Given the description of an element on the screen output the (x, y) to click on. 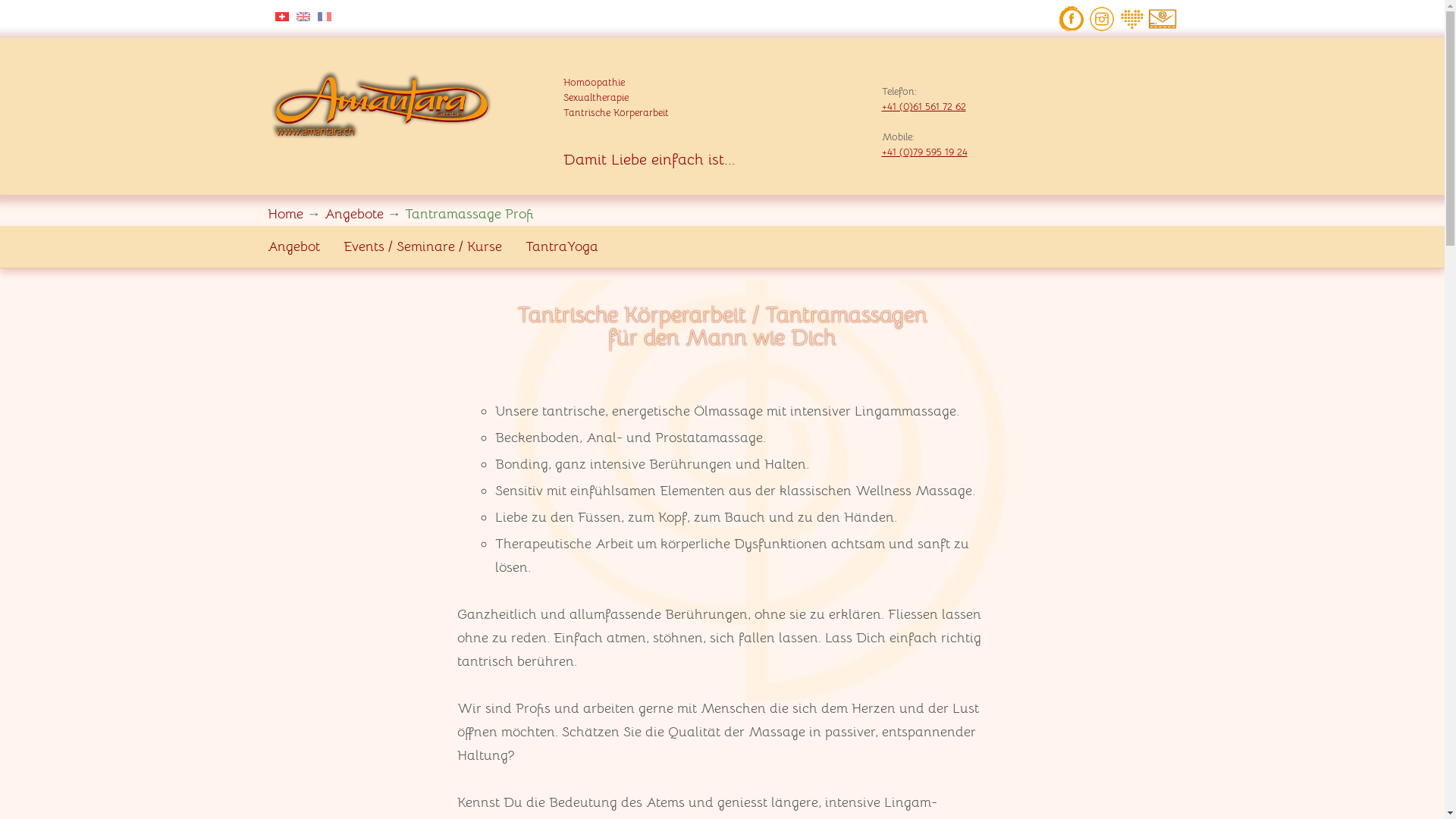
Deutsch (de) Element type: hover (281, 14)
+41 (0)61 561 72 62 Element type: text (923, 106)
TantraYoga Element type: text (560, 246)
Events / Seminare / Kurse Element type: text (421, 246)
English (en) Element type: hover (302, 14)
Angebote Element type: text (353, 213)
Home Element type: text (284, 213)
Angebot Element type: text (292, 246)
+41 (0)79 595 19 24 Element type: text (923, 151)
